Given the description of an element on the screen output the (x, y) to click on. 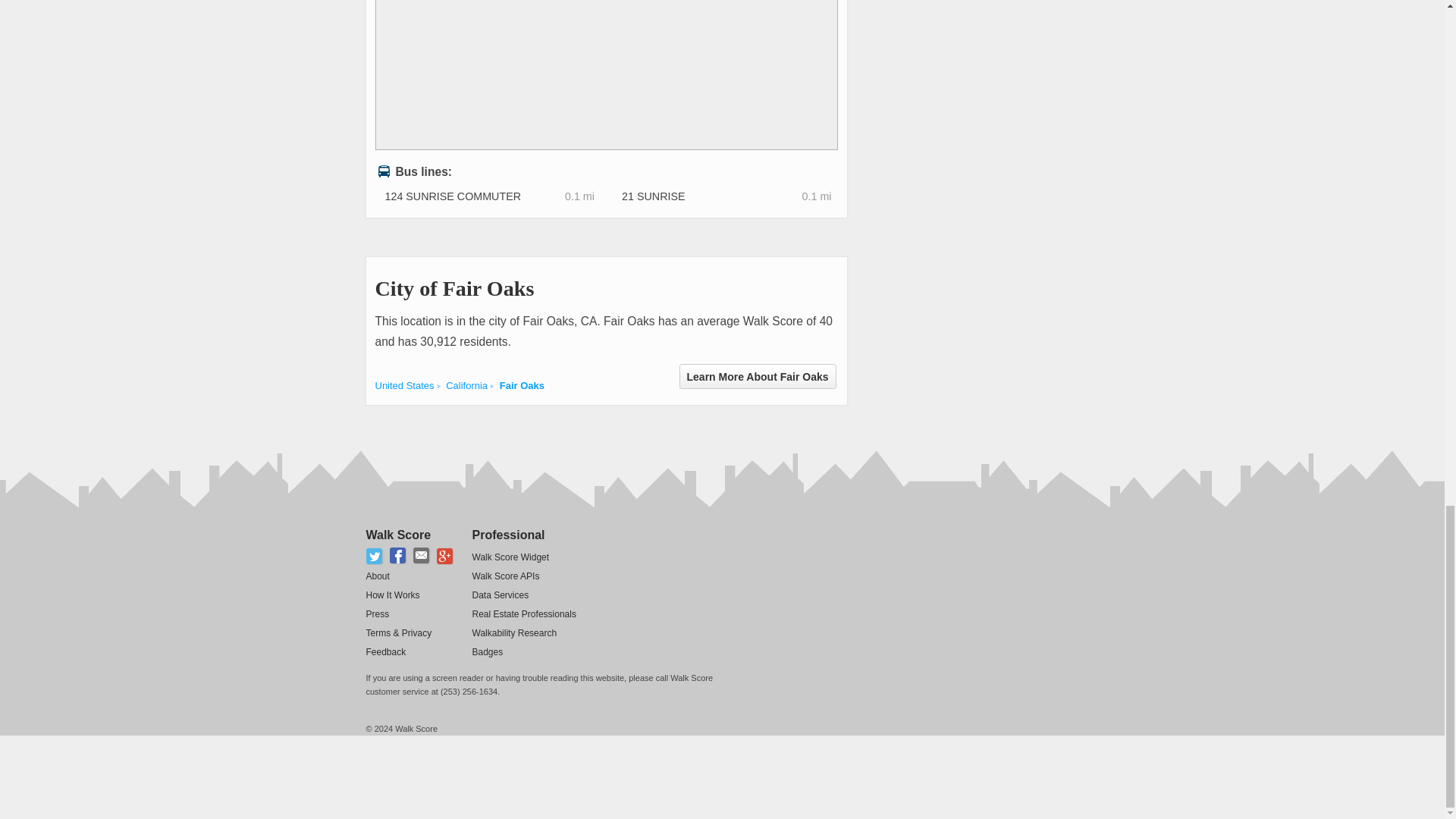
Cities in California state (466, 385)
United States Walkability Rankings (403, 385)
United States (403, 385)
Learn More About Fair Oaks (757, 376)
California (466, 385)
